Given the description of an element on the screen output the (x, y) to click on. 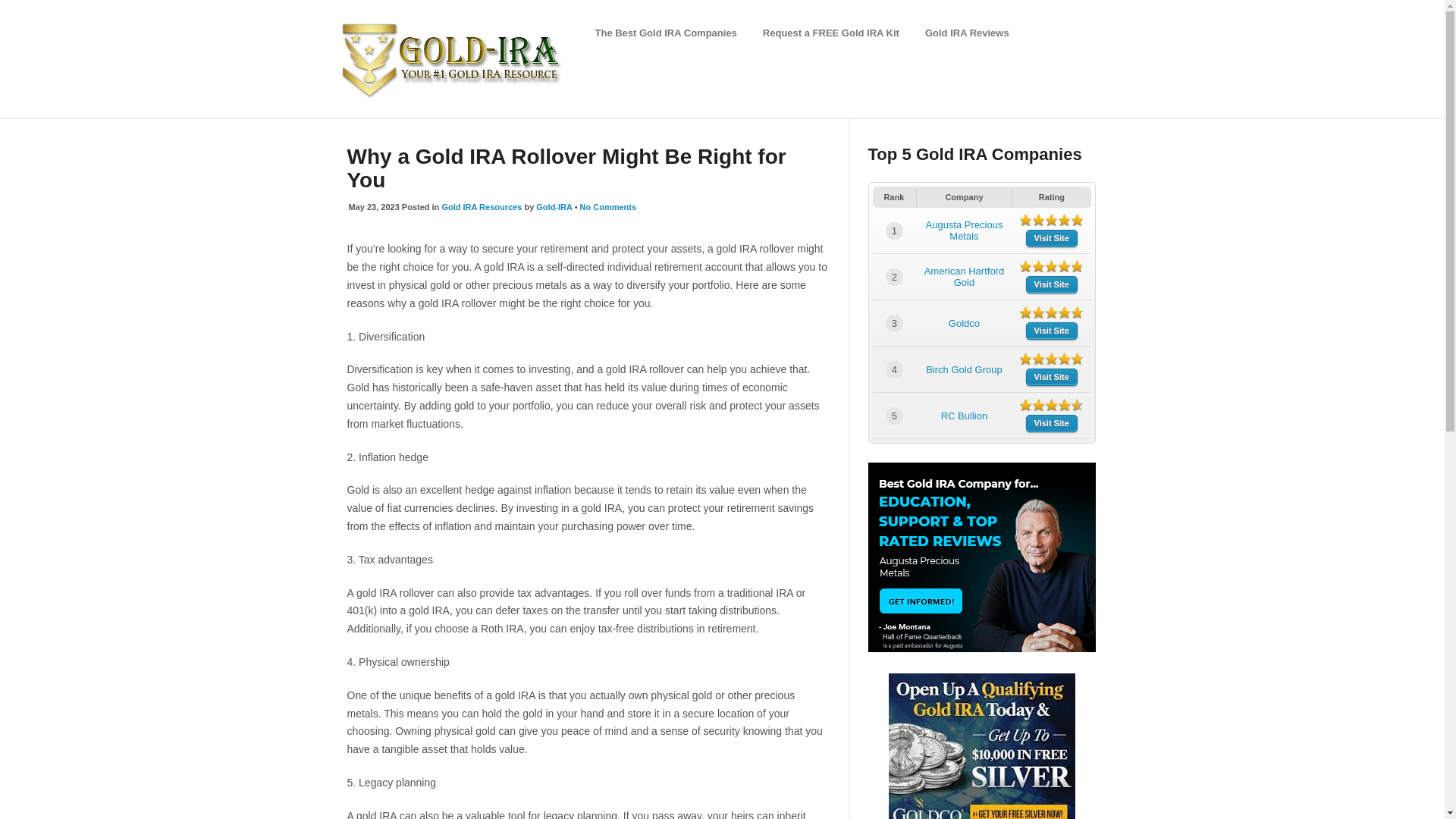
Visit (1051, 238)
Request a FREE Gold IRA Kit (831, 32)
Gold IRA Reviews (966, 32)
Visit Site (1051, 284)
Visit Site (1051, 330)
Posts by Gold-IRA (553, 206)
No Comments (608, 206)
Visit Site (1051, 376)
Gold-IRA (553, 206)
The Best Gold IRA Companies (665, 32)
Birch Gold Group (963, 369)
Visit Site (1051, 238)
Goldco (964, 323)
Birch Gold Group (963, 369)
RC Bullion (963, 415)
